Given the description of an element on the screen output the (x, y) to click on. 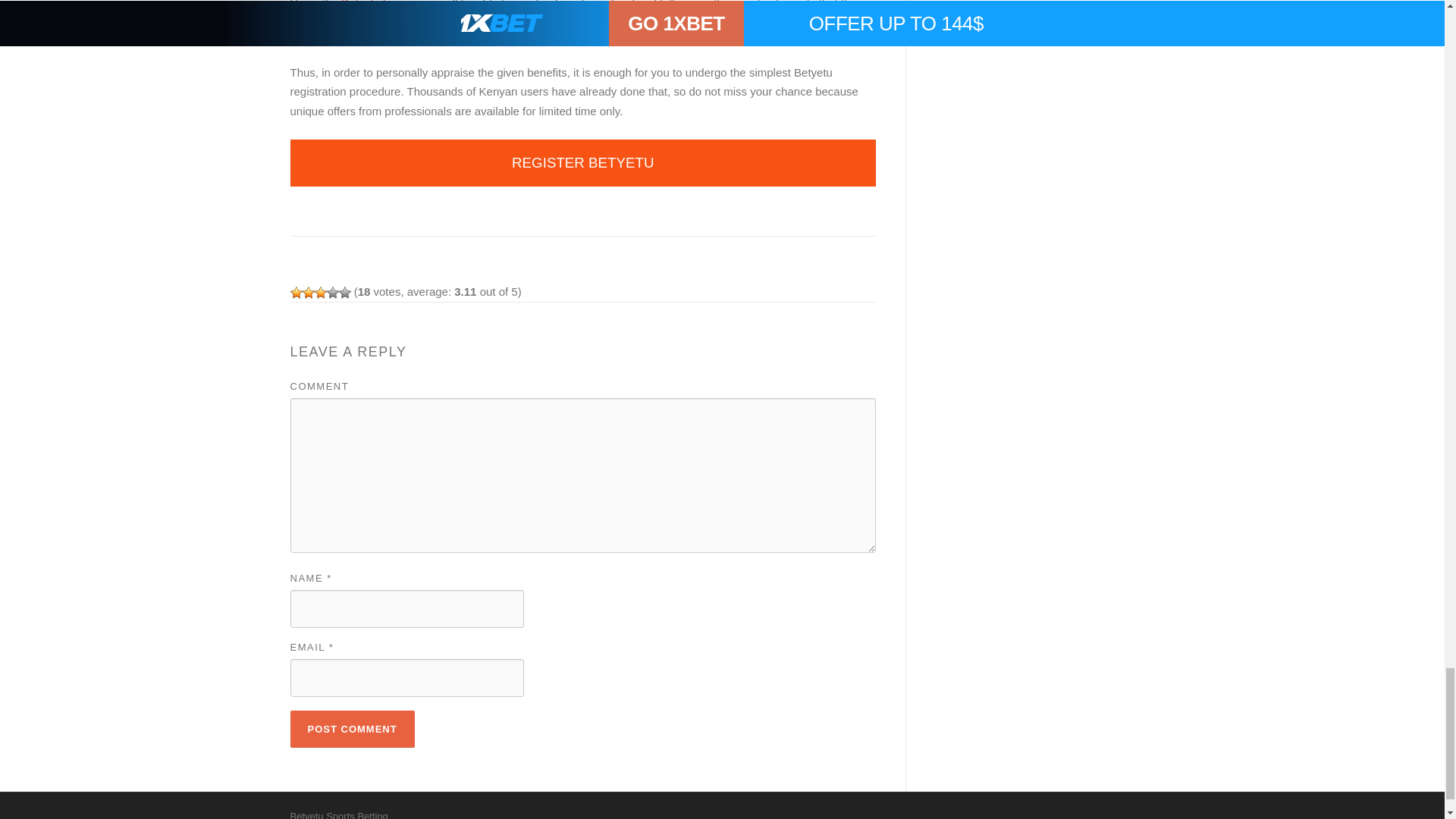
Post Comment (351, 728)
2 (307, 292)
5 (343, 292)
3 (320, 292)
Post Comment (351, 728)
REGISTER BETYETU (582, 162)
4 (331, 292)
1 (295, 292)
Betyetu bonus (376, 4)
